Given the description of an element on the screen output the (x, y) to click on. 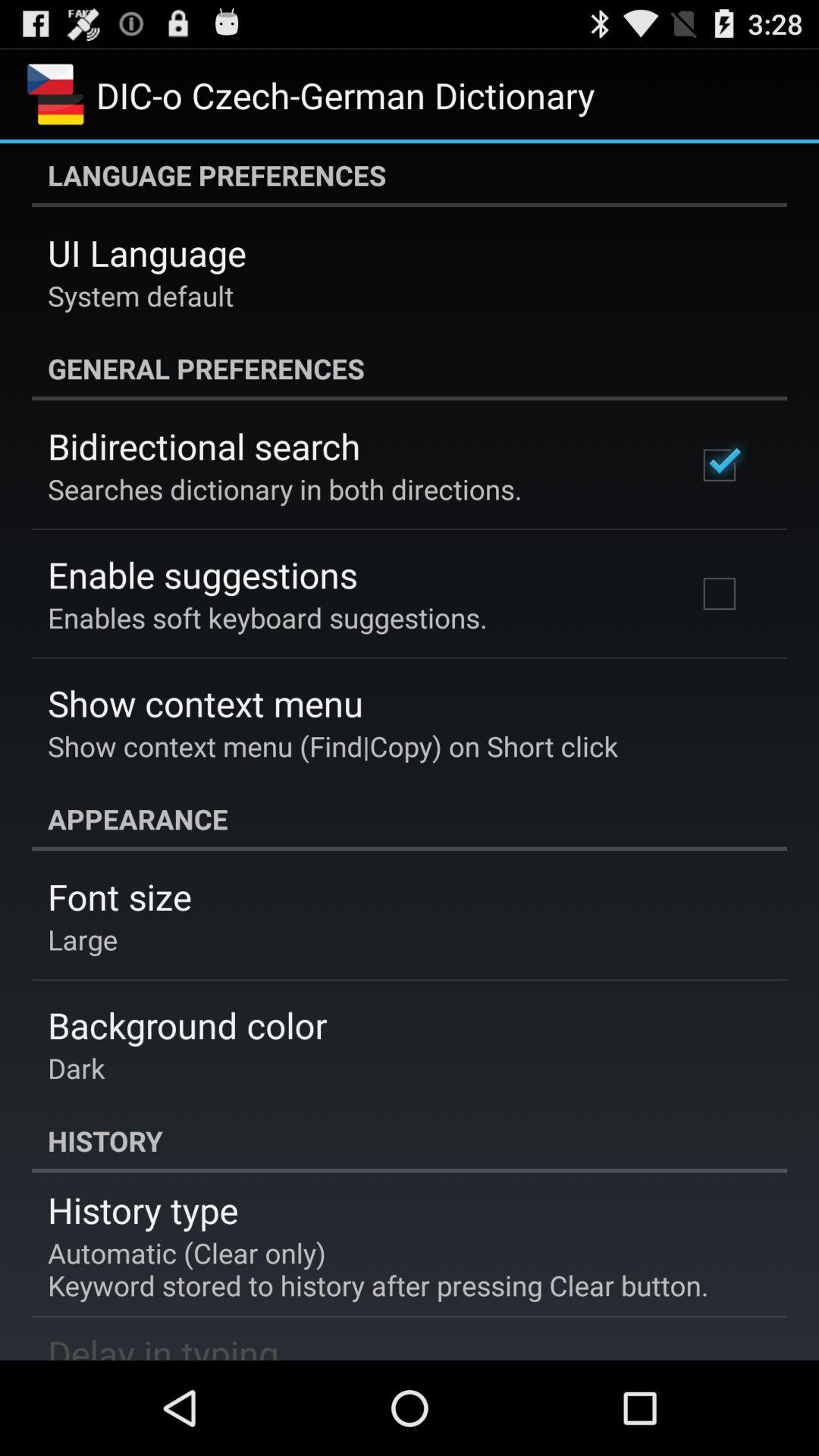
launch the icon above font size app (409, 818)
